Given the description of an element on the screen output the (x, y) to click on. 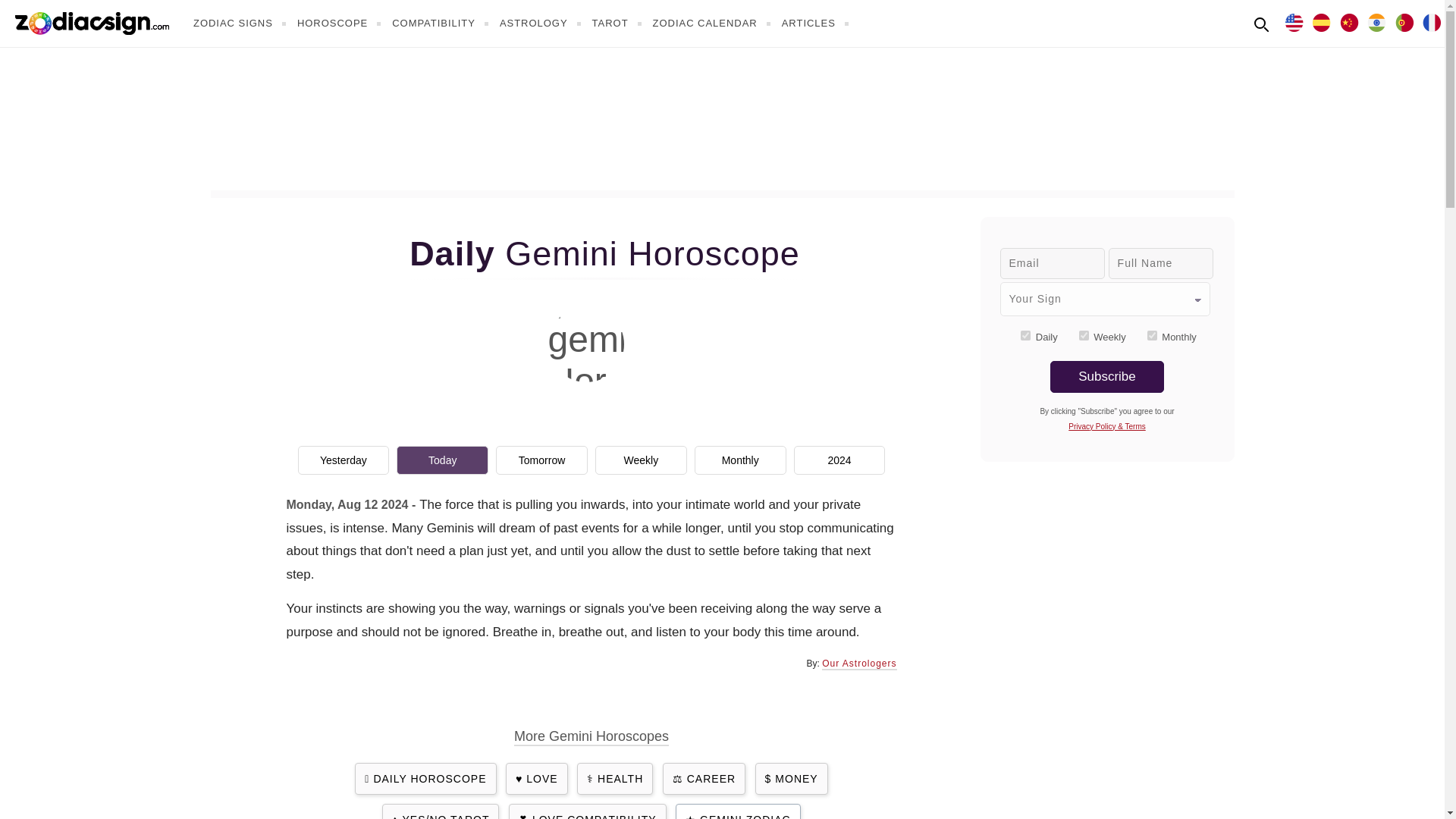
ZODIAC SIGNS (241, 23)
weekly (1083, 335)
daily (1025, 335)
In English (1294, 21)
monthly (1152, 335)
HOROSCOPE (341, 23)
